Given the description of an element on the screen output the (x, y) to click on. 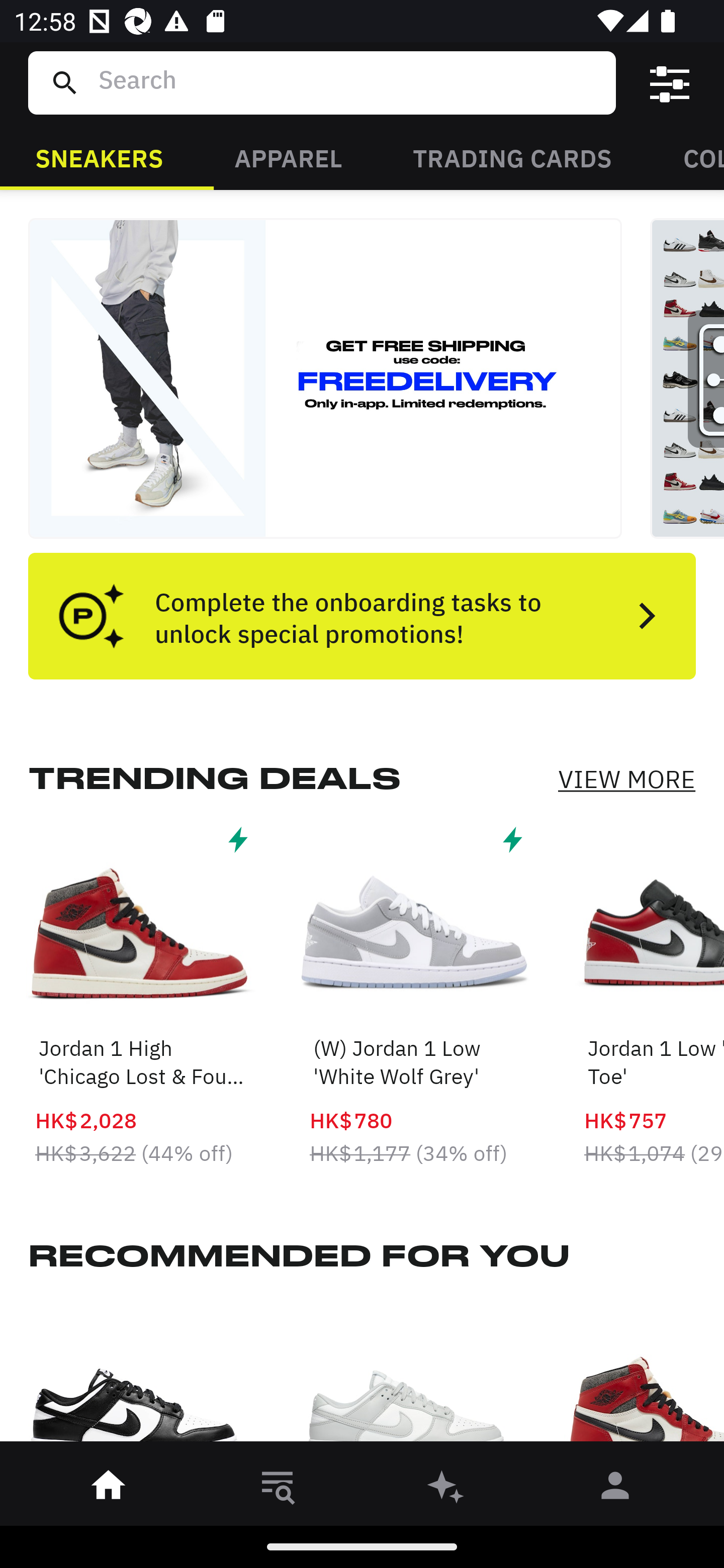
Search (349, 82)
 (669, 82)
SNEAKERS (99, 156)
APPAREL (287, 156)
TRADING CARDS (512, 156)
VIEW MORE (626, 779)
󰋜 (108, 1488)
󱎸 (277, 1488)
󰫢 (446, 1488)
󰀄 (615, 1488)
